Given the description of an element on the screen output the (x, y) to click on. 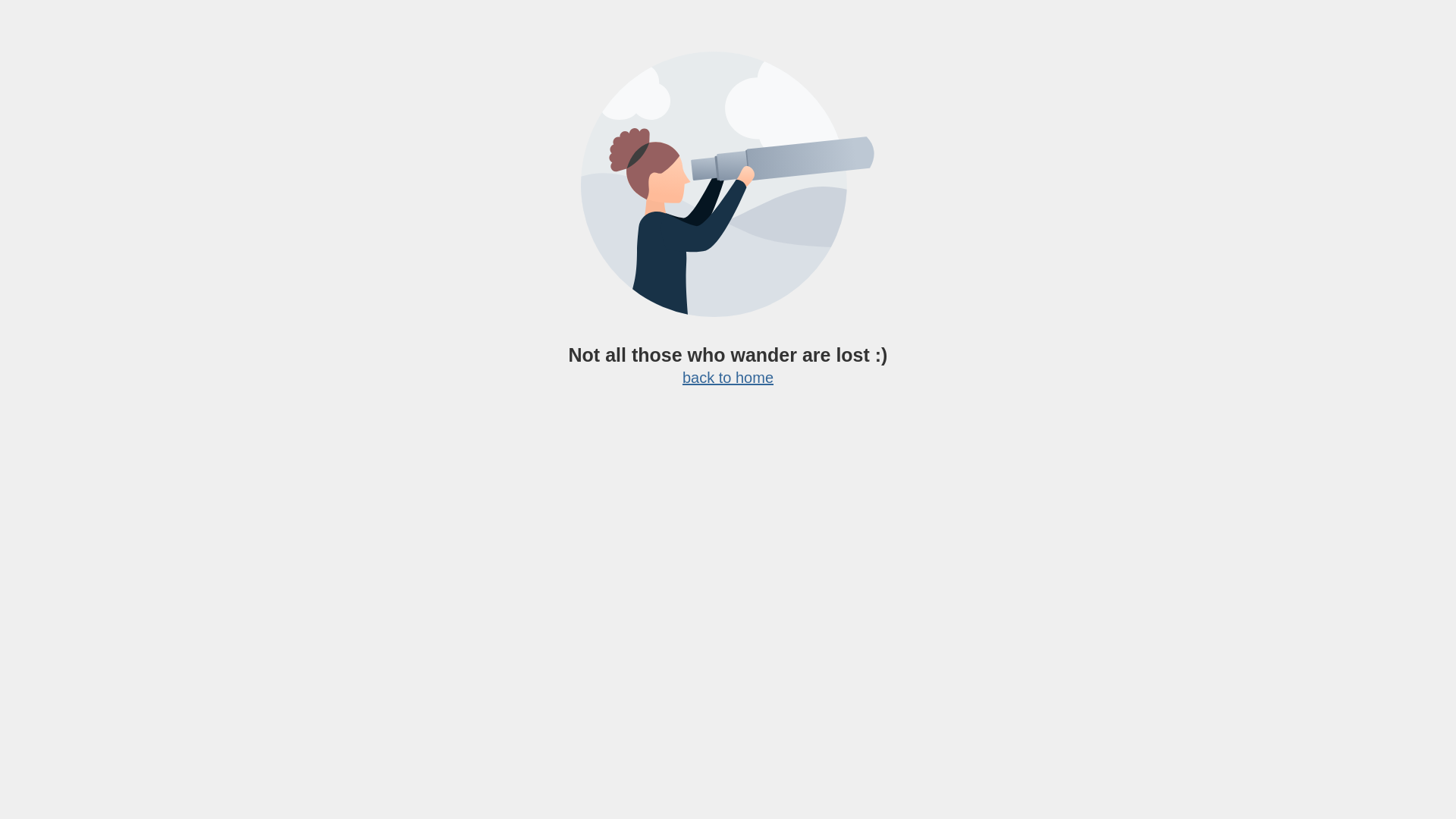
back to home Element type: text (727, 377)
